Given the description of an element on the screen output the (x, y) to click on. 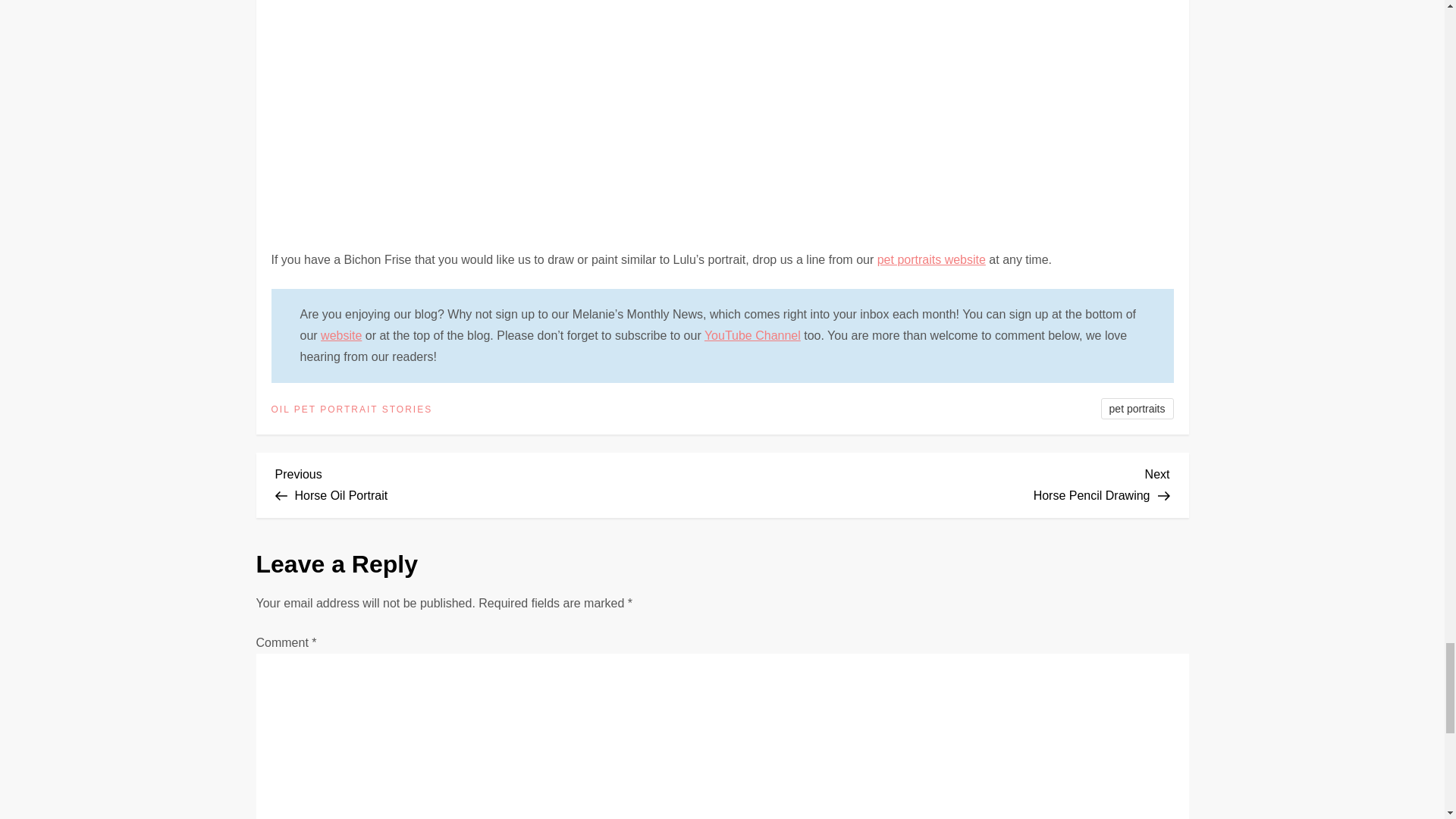
website (340, 335)
pet portraits (1136, 408)
pet portraits website (931, 259)
OIL PET PORTRAIT STORIES (351, 410)
YouTube Channel (752, 335)
